Given the description of an element on the screen output the (x, y) to click on. 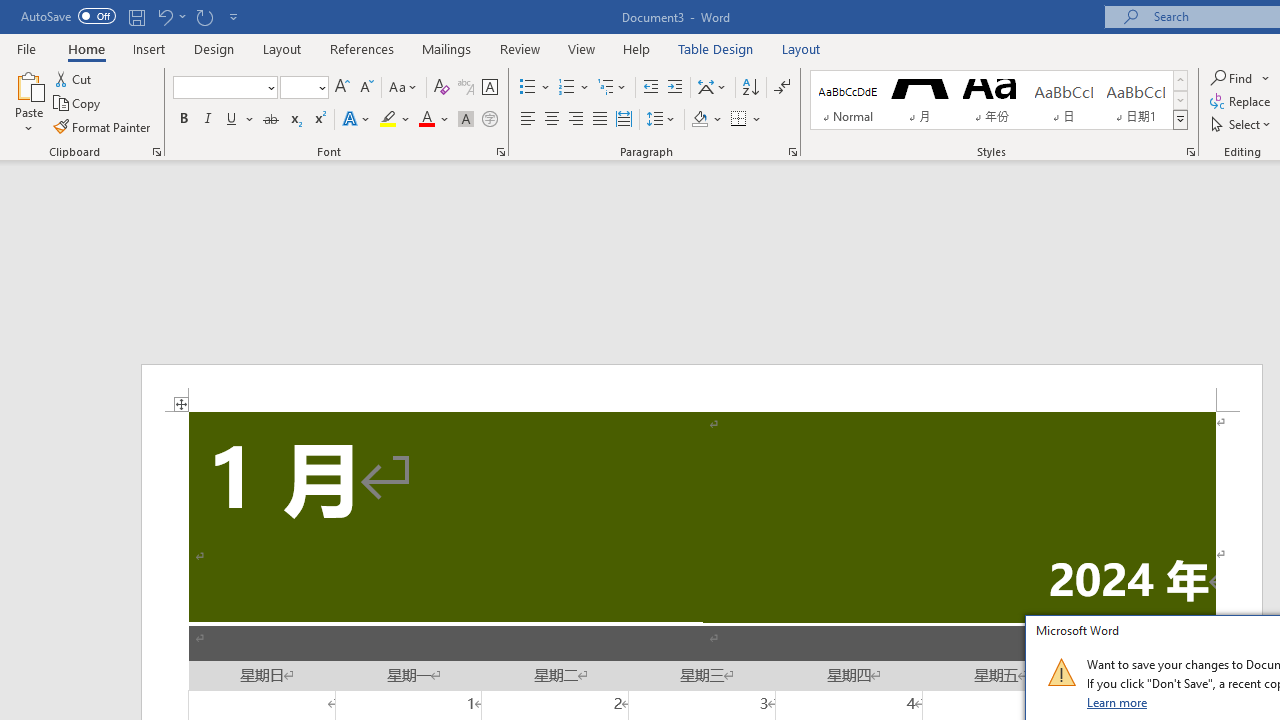
Justify (599, 119)
Text Highlight Color Yellow (388, 119)
Shrink Font (365, 87)
Font Color (434, 119)
Text Highlight Color (395, 119)
Table Design (715, 48)
Phonetic Guide... (465, 87)
Select (1242, 124)
Enclose Characters... (489, 119)
Shading RGB(0, 0, 0) (699, 119)
